Given the description of an element on the screen output the (x, y) to click on. 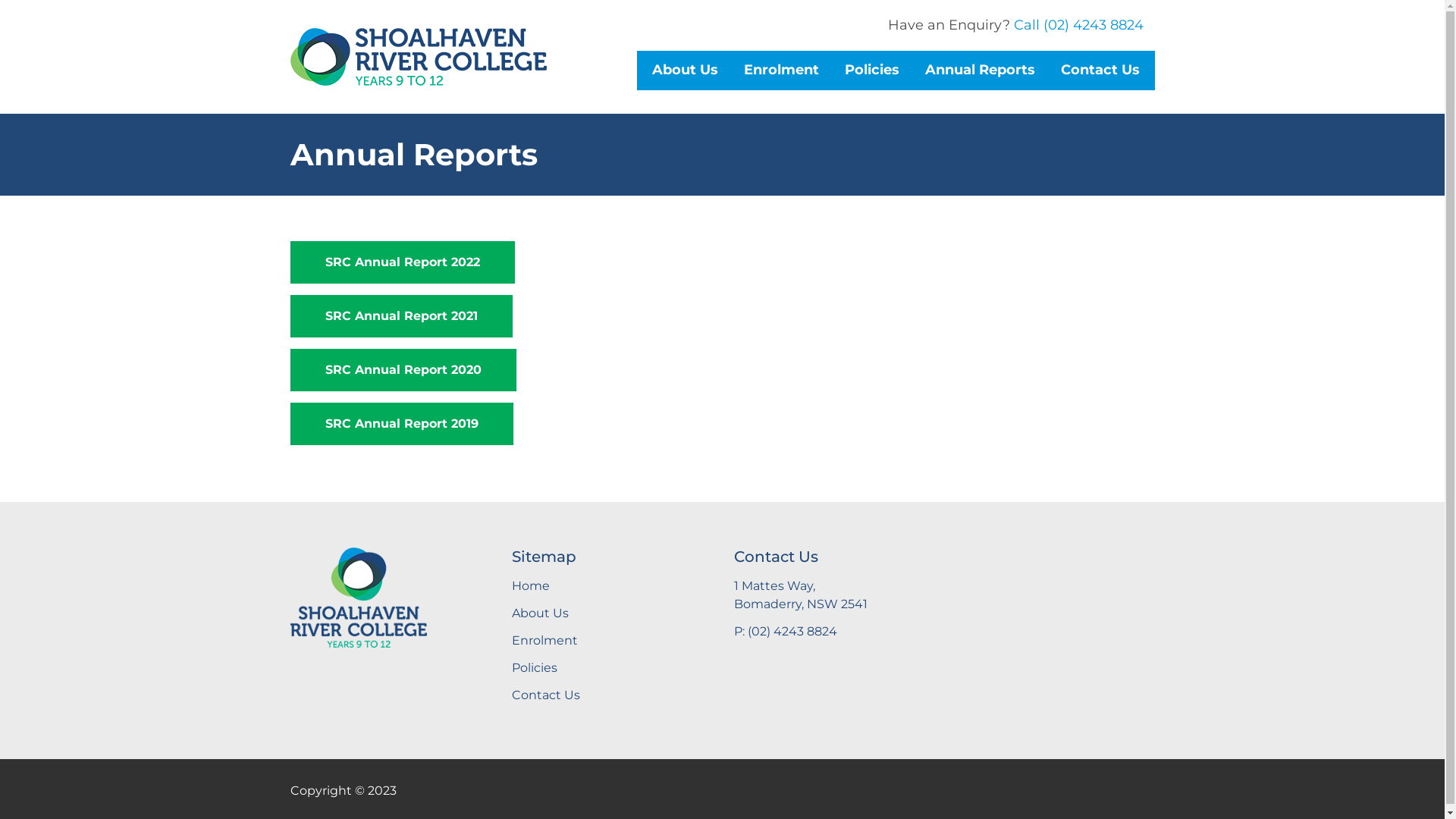
Contact Us Element type: text (1100, 70)
Home Element type: text (611, 586)
Enrolment Element type: text (611, 640)
About Us Element type: text (684, 70)
SRC Annual Report 2020 Element type: text (402, 369)
Policies Element type: text (871, 70)
Enrolment Element type: text (781, 70)
Annual Reports Element type: text (979, 70)
SRC Annual Report 2022 Element type: text (401, 262)
Policies Element type: text (611, 667)
Shoalhaven River College Element type: hover (357, 596)
SRC Annual Report 2021 Element type: text (400, 315)
P: (02) 4243 8824 Element type: text (833, 631)
1 Mattes Way,
Bomaderry, NSW 2541 Element type: text (833, 595)
Call (02) 4243 8824 Element type: text (1077, 24)
SRC Annual Report 2019 Element type: text (400, 423)
Contact Us Element type: text (611, 695)
About Us Element type: text (611, 613)
